Given the description of an element on the screen output the (x, y) to click on. 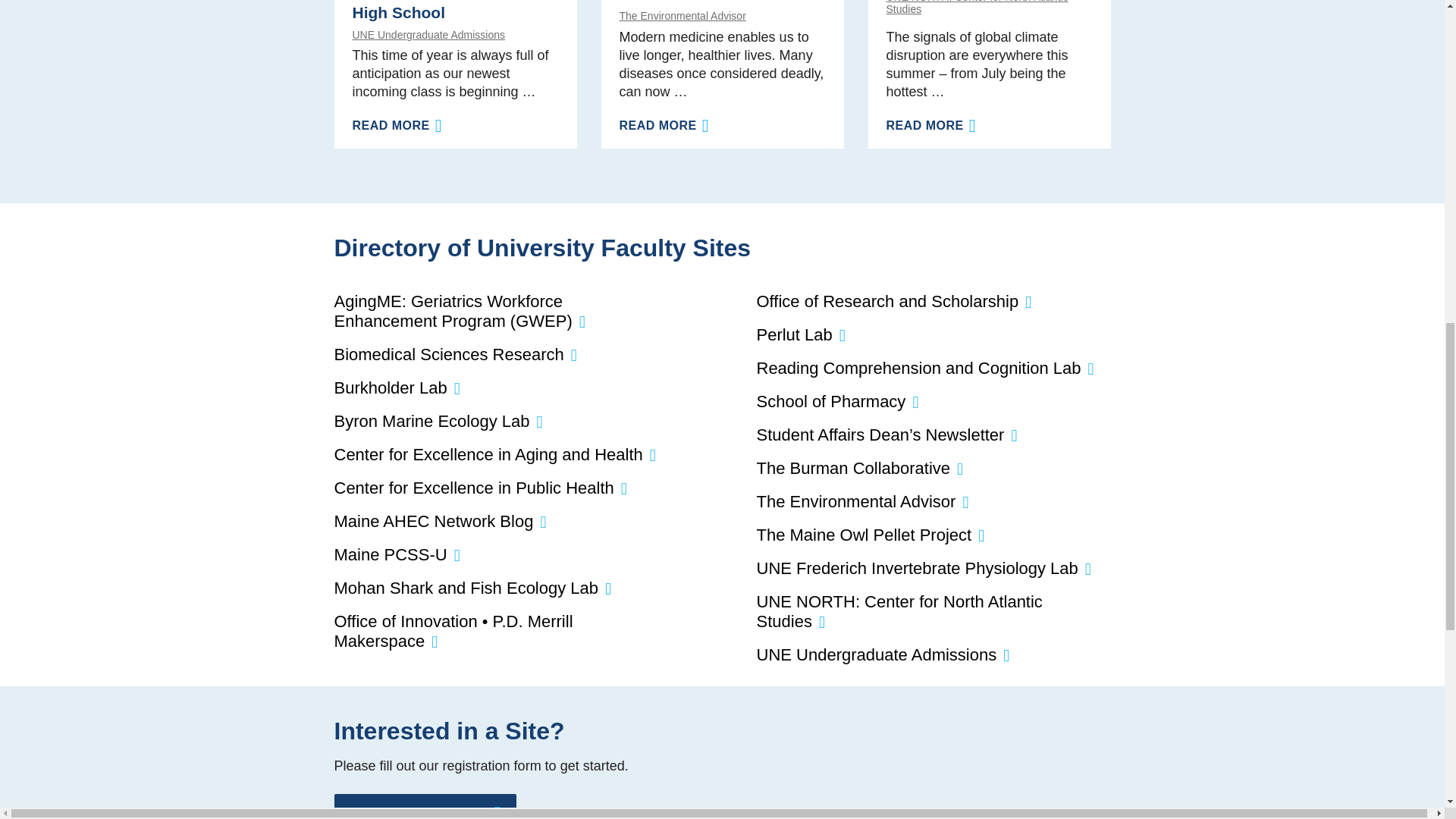
UNE Undergraduate Admissions (454, 34)
School of Pharmacy (831, 401)
Mohan Shark and Fish Ecology Lab (465, 587)
Office of Research and Scholarship (888, 301)
Perlut Lab (794, 334)
Center for Excellence in Aging and Health (487, 454)
Maine PCSS-U (389, 554)
UNE NORTH: Center for North Atlantic Studies (988, 7)
READ MORE (663, 124)
Reading Comprehension and Cognition Lab (919, 367)
Biomedical Sciences Research (448, 353)
Center for Excellence in Public Health (472, 487)
READ MORE (930, 124)
READ MORE (397, 124)
